Given the description of an element on the screen output the (x, y) to click on. 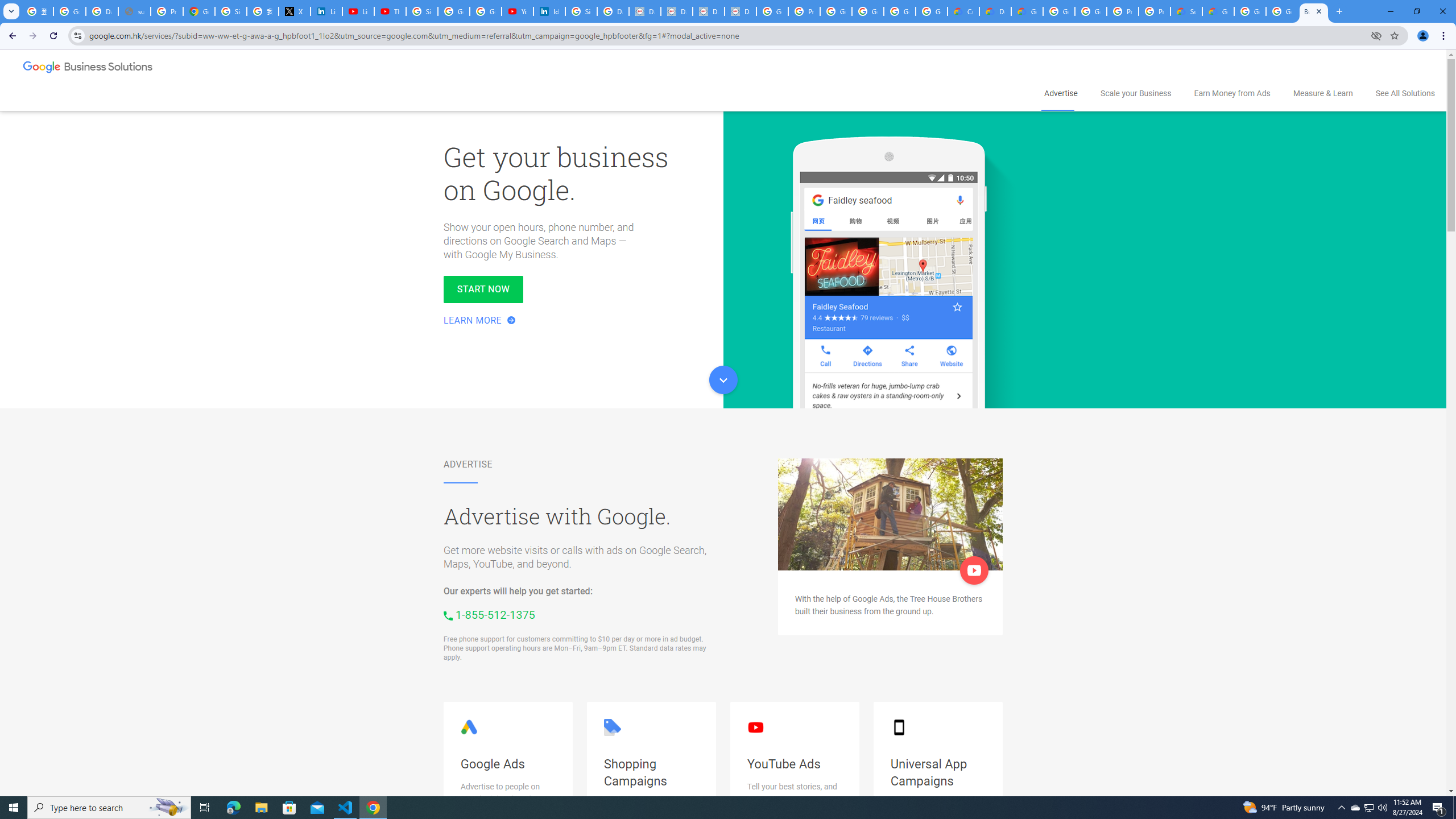
LEARN MORE  (480, 320)
Earn Money from Ads (1232, 93)
Google Cloud Platform (1281, 11)
Advertise card (890, 514)
